Given the description of an element on the screen output the (x, y) to click on. 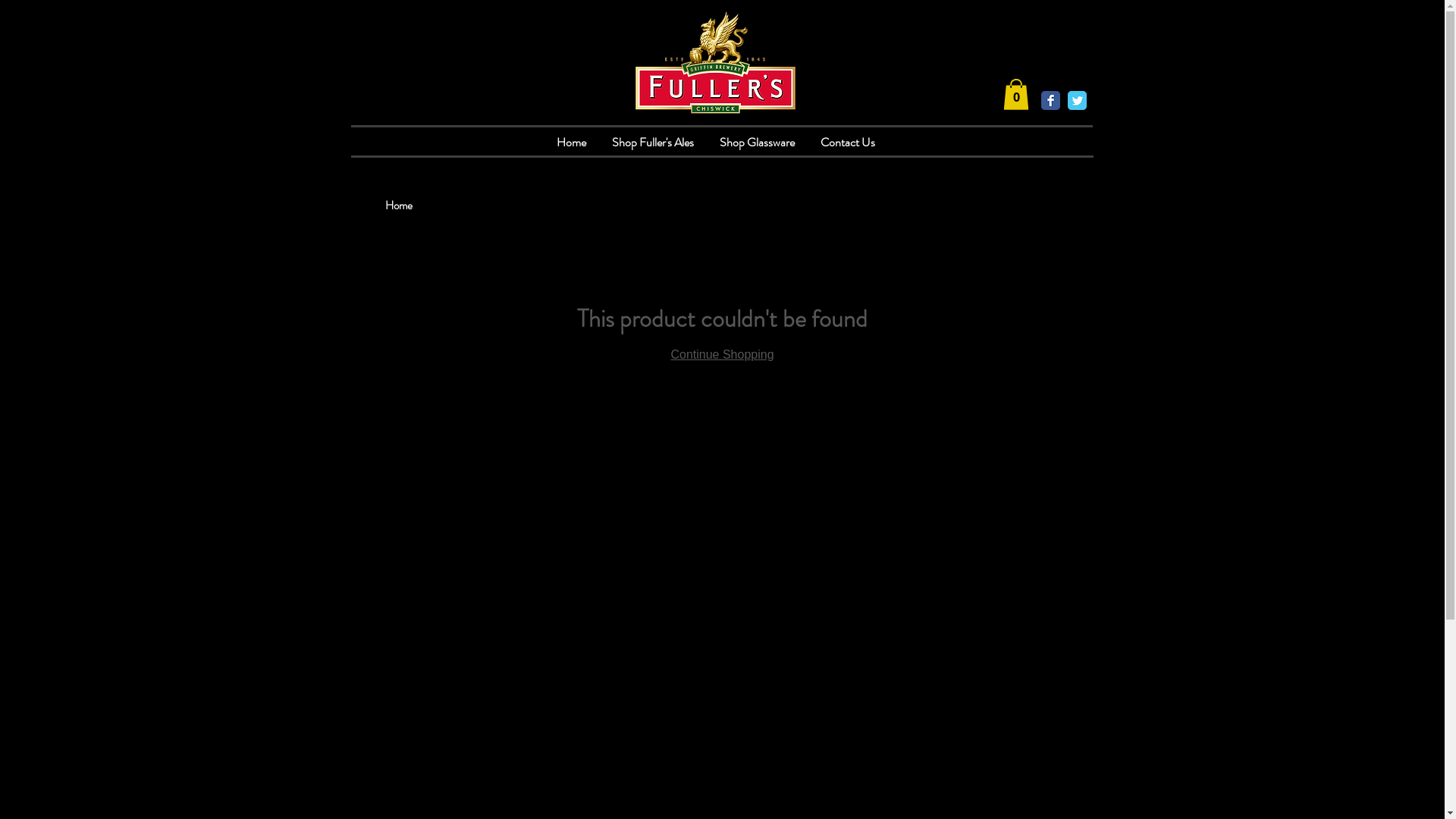
Fuller's Ale Australia Element type: hover (714, 60)
Shop Glassware Element type: text (756, 142)
Contact Us Element type: text (846, 142)
0 Element type: text (1015, 93)
Home Element type: text (570, 142)
Shop Fuller's Ales Element type: text (652, 142)
Home Element type: text (398, 205)
Site Search Element type: hover (1024, 60)
Continue Shopping Element type: text (721, 354)
